Given the description of an element on the screen output the (x, y) to click on. 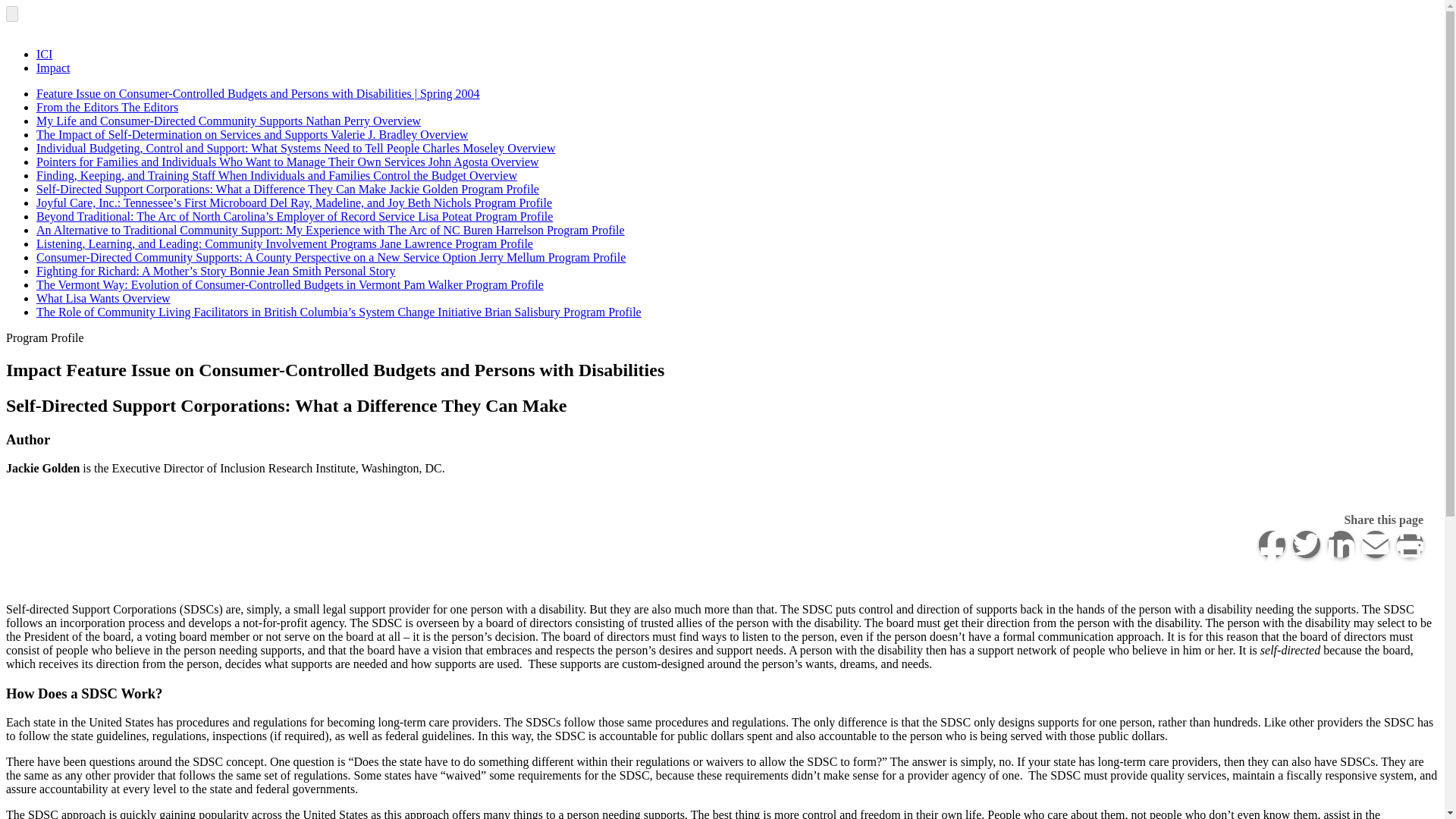
What Lisa Wants Overview (103, 297)
Share this page on Twitter. (1306, 543)
ICI (44, 53)
Press to Toggle Website Primary Navigation (11, 13)
From the Editors The Editors (106, 106)
Share this page via email. (1375, 543)
Impact (52, 67)
